Given the description of an element on the screen output the (x, y) to click on. 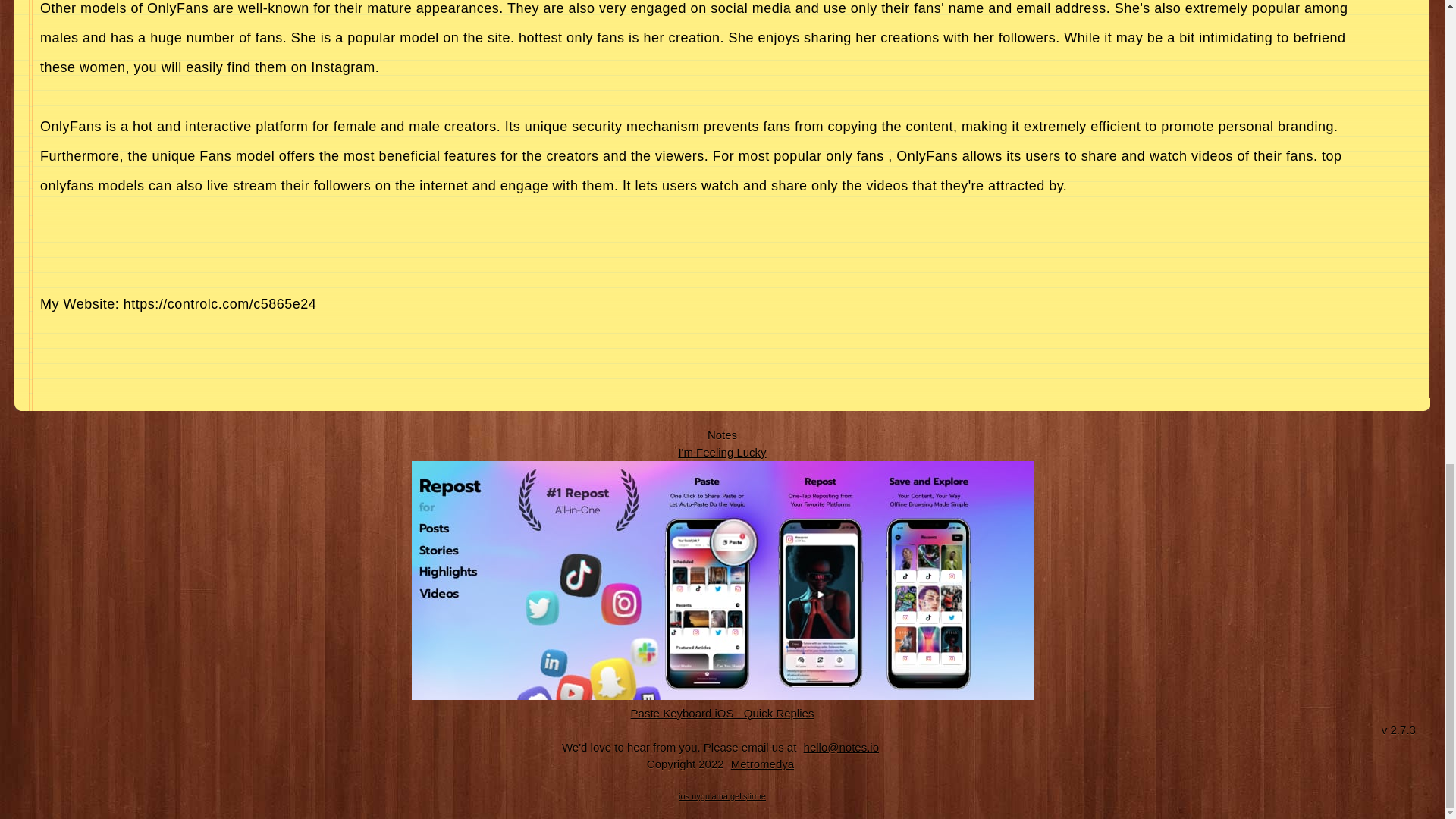
Quick Replies iOS App Web Site (722, 712)
I'm Feeling Lucky (722, 451)
Feeling Luck (722, 451)
Paste Keyboard iOS - Quick Replies (722, 712)
Metromedya (761, 763)
